Given the description of an element on the screen output the (x, y) to click on. 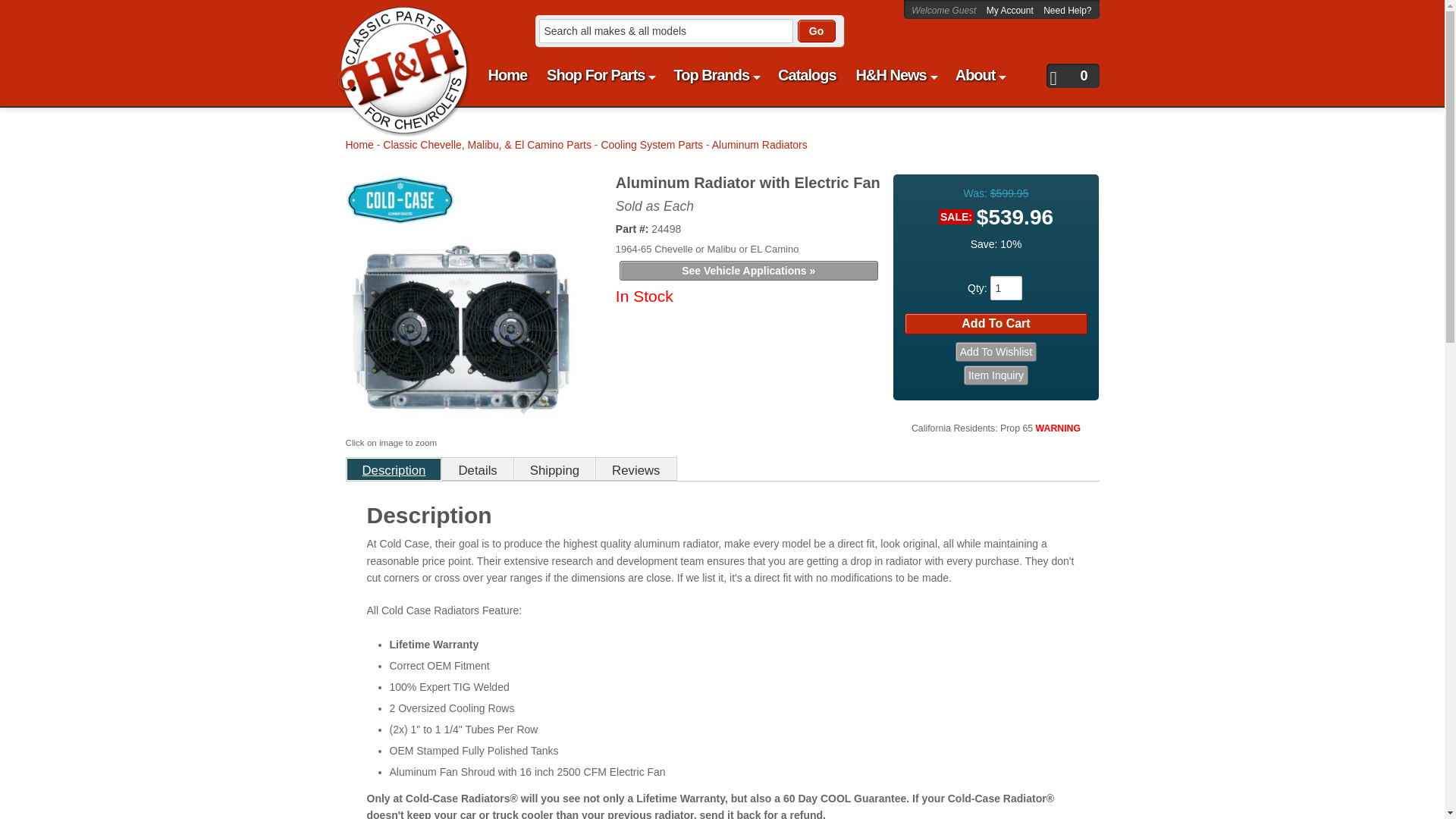
Catalogs (806, 75)
Top Brands (715, 75)
About (979, 75)
My Account (1011, 9)
Need Help? (1066, 9)
0 (1072, 75)
Top Brands (715, 75)
Home (507, 75)
Home (507, 75)
1 (1006, 288)
Shop For Parts (599, 75)
Go (816, 30)
Go (816, 30)
Home (394, 20)
Shop For Parts (599, 75)
